Given the description of an element on the screen output the (x, y) to click on. 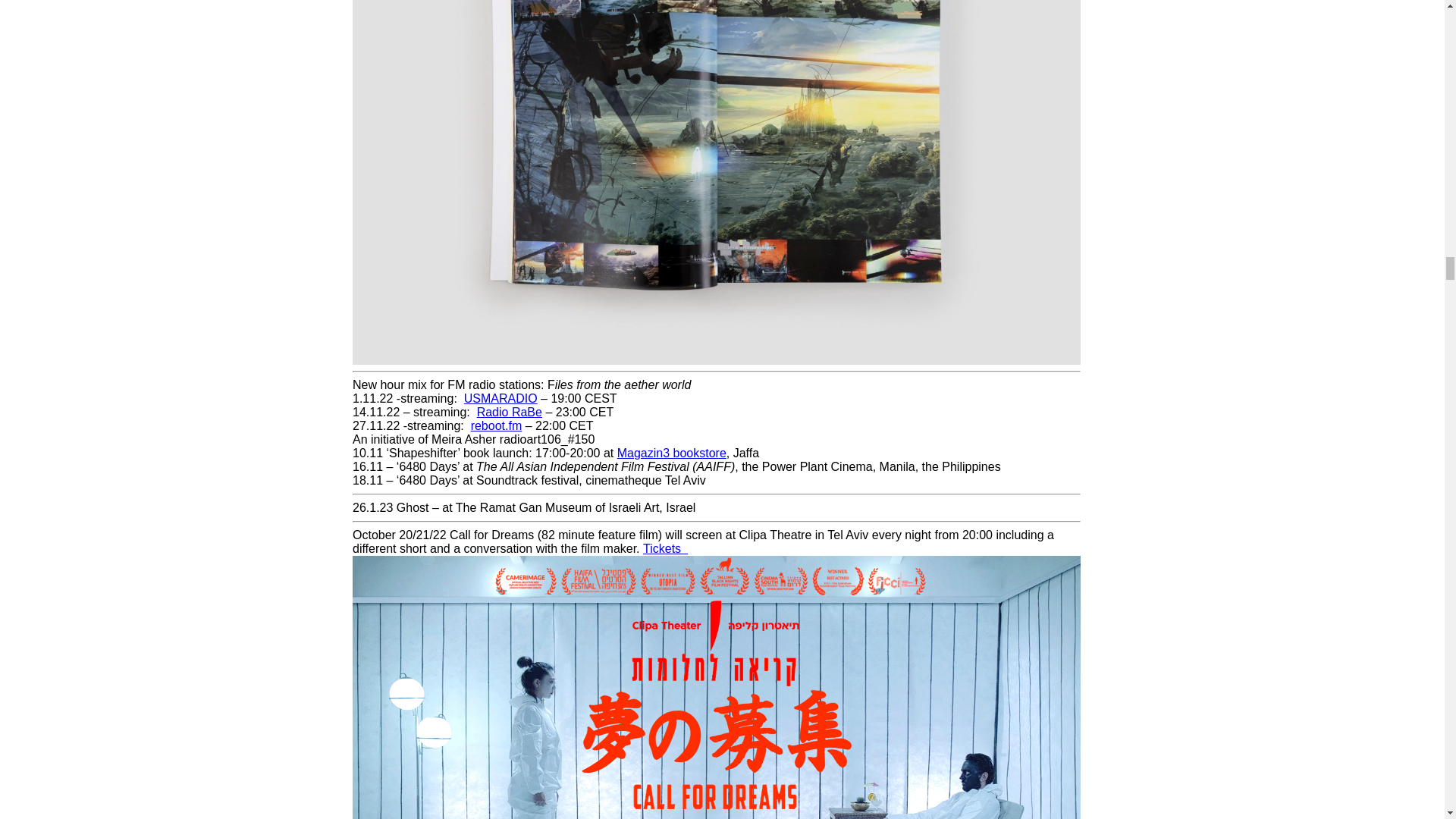
Tickets   (665, 548)
reboot.fm (496, 425)
Magazin3 bookstore (671, 452)
Radio RaBe (509, 411)
USMARADIO (500, 398)
